Given the description of an element on the screen output the (x, y) to click on. 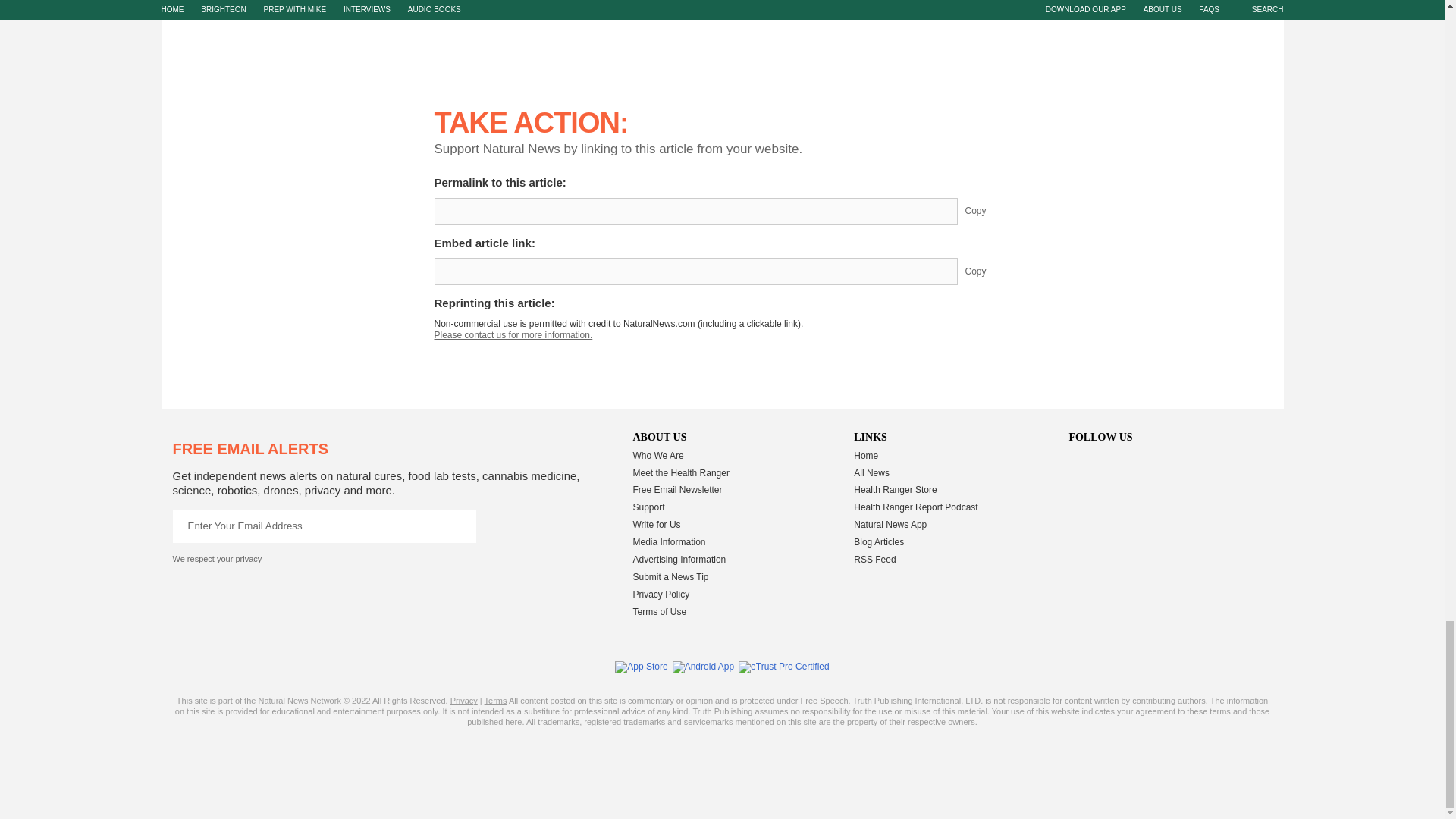
Copy Embed Link (986, 271)
Copy Permalink (986, 211)
Continue (459, 525)
eTrust Pro Certified (783, 666)
